Given the description of an element on the screen output the (x, y) to click on. 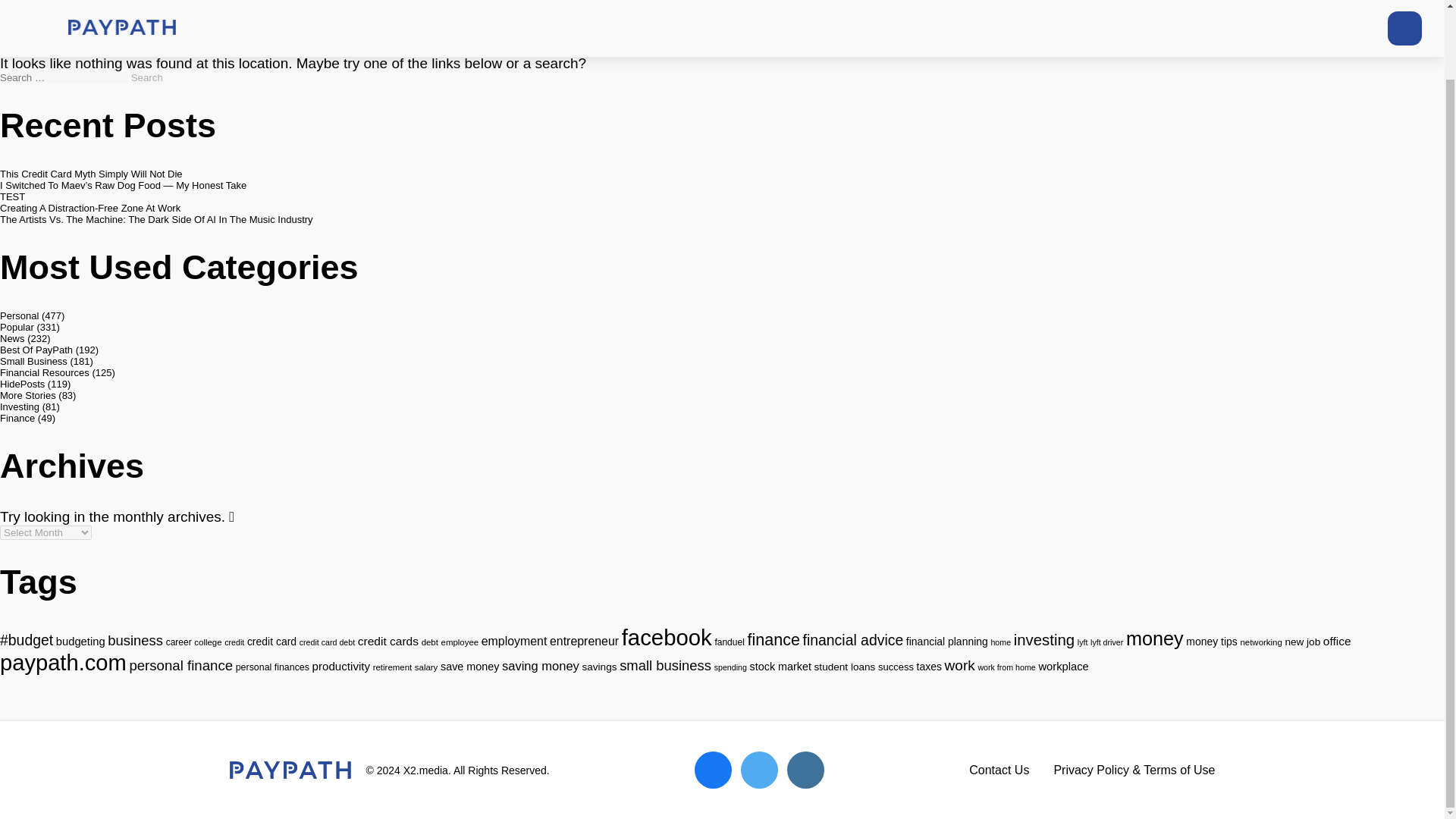
budgeting (80, 641)
Personal (19, 315)
business (135, 640)
This Credit Card Myth Simply Will Not Die (91, 173)
Finance (17, 418)
Investing (19, 406)
HidePosts (22, 383)
Financial Resources (44, 372)
Small Business (33, 360)
